Given the description of an element on the screen output the (x, y) to click on. 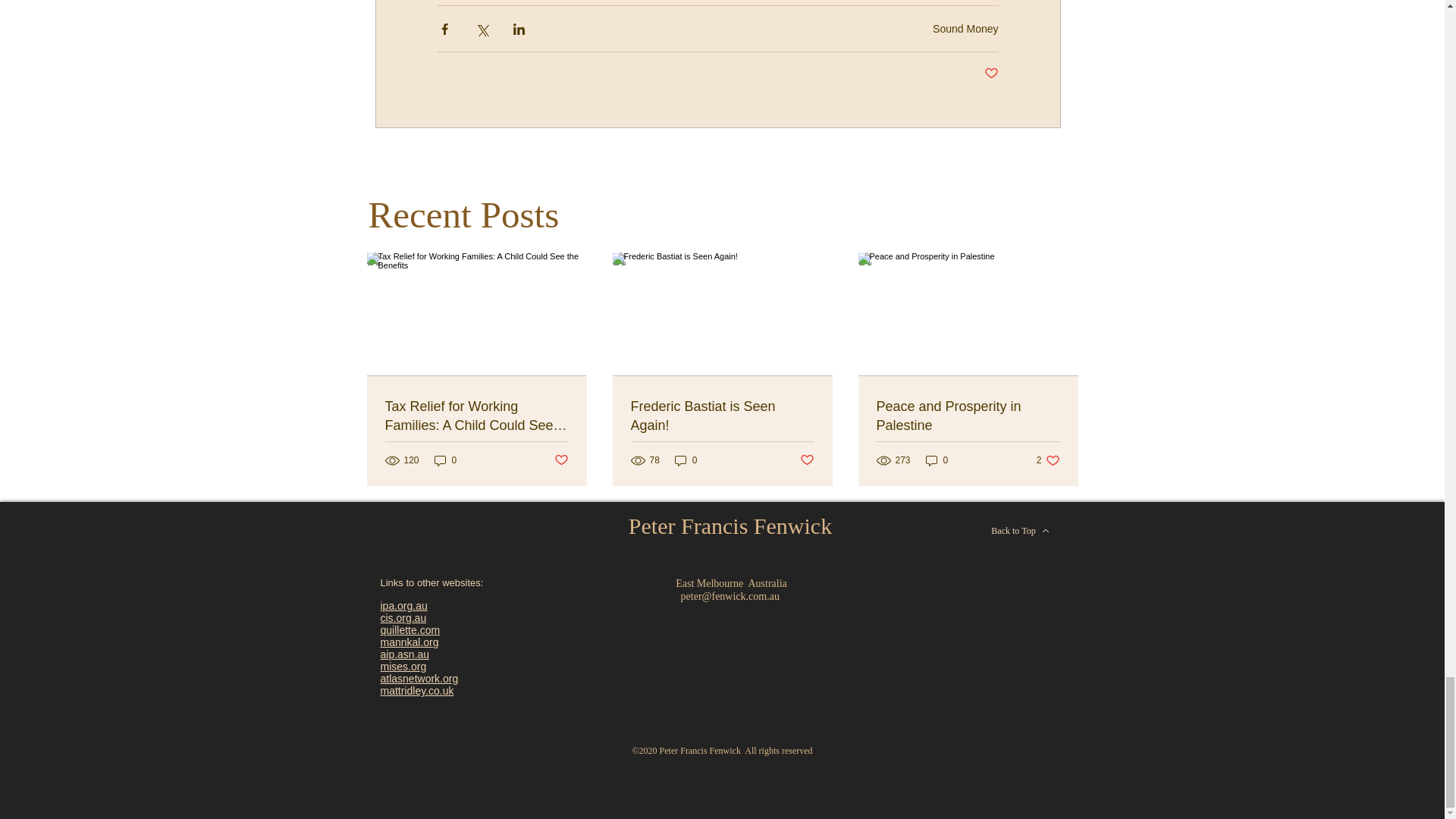
0 (685, 460)
Sound Money (965, 28)
Post not marked as liked (991, 73)
0 (445, 460)
Post not marked as liked (560, 460)
Frederic Bastiat is Seen Again! (721, 415)
Facebook Like (934, 529)
